Given the description of an element on the screen output the (x, y) to click on. 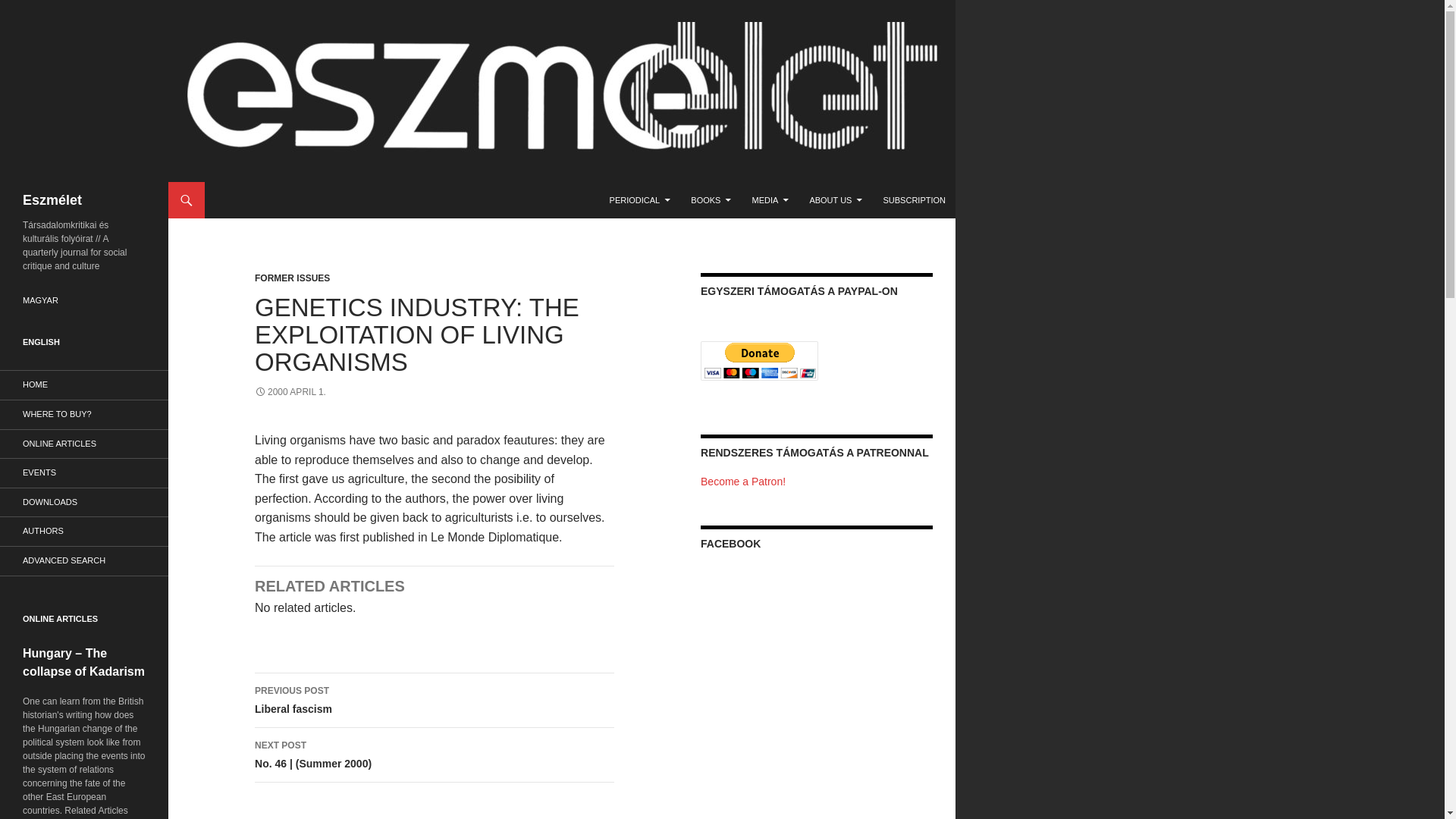
AUTHORS (84, 531)
Become a Patron! (743, 481)
FORMER ISSUES (292, 277)
HOME (84, 385)
BOOKS (710, 199)
DOWNLOADS (84, 502)
PERIODICAL (639, 199)
WHERE TO BUY? (84, 414)
